Given the description of an element on the screen output the (x, y) to click on. 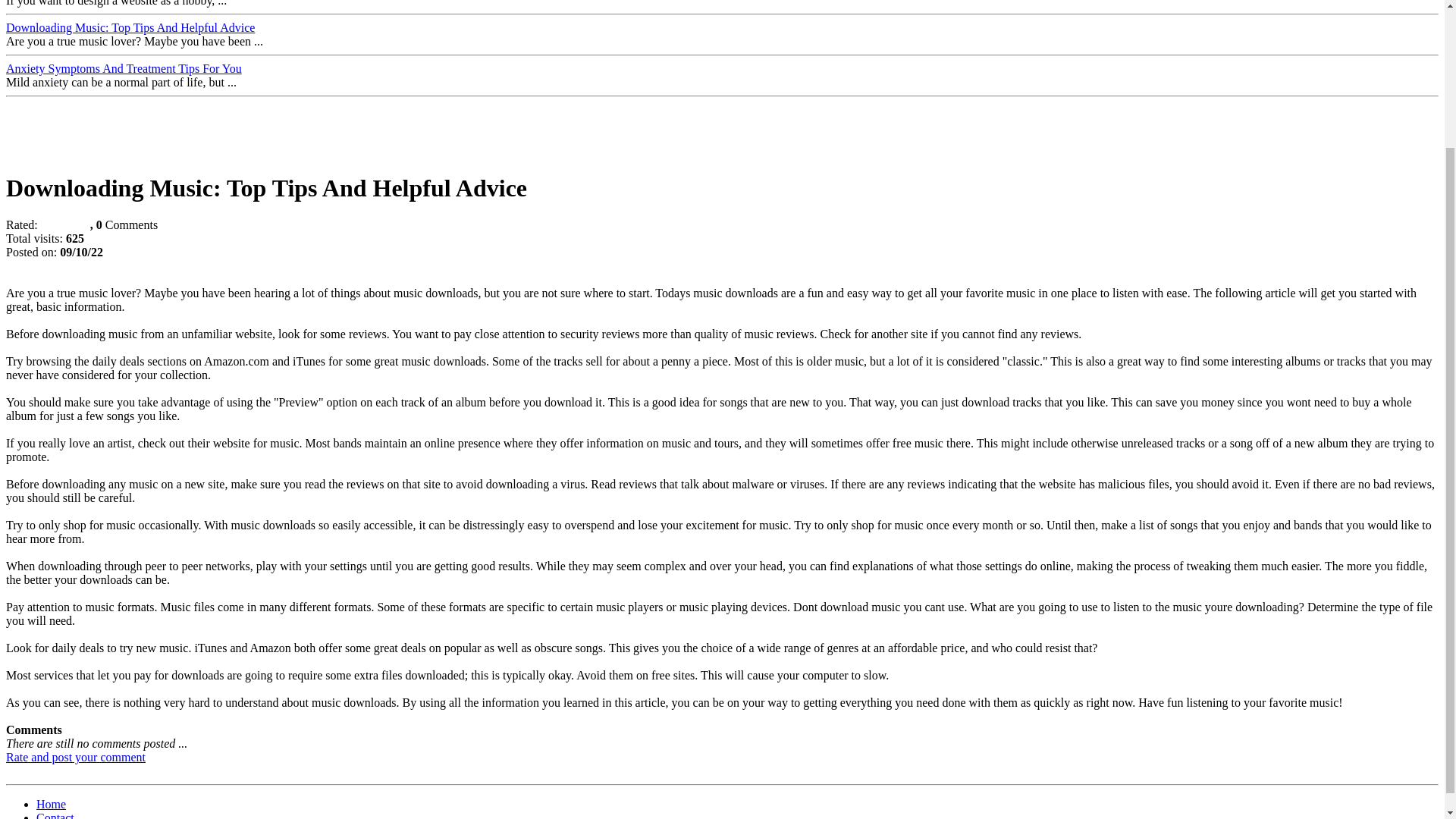
Downloading Music: Top Tips And Helpful Advice (129, 27)
Home (50, 803)
Anxiety Symptoms And Treatment Tips For You (123, 68)
Rate and post your comment (75, 757)
